Given the description of an element on the screen output the (x, y) to click on. 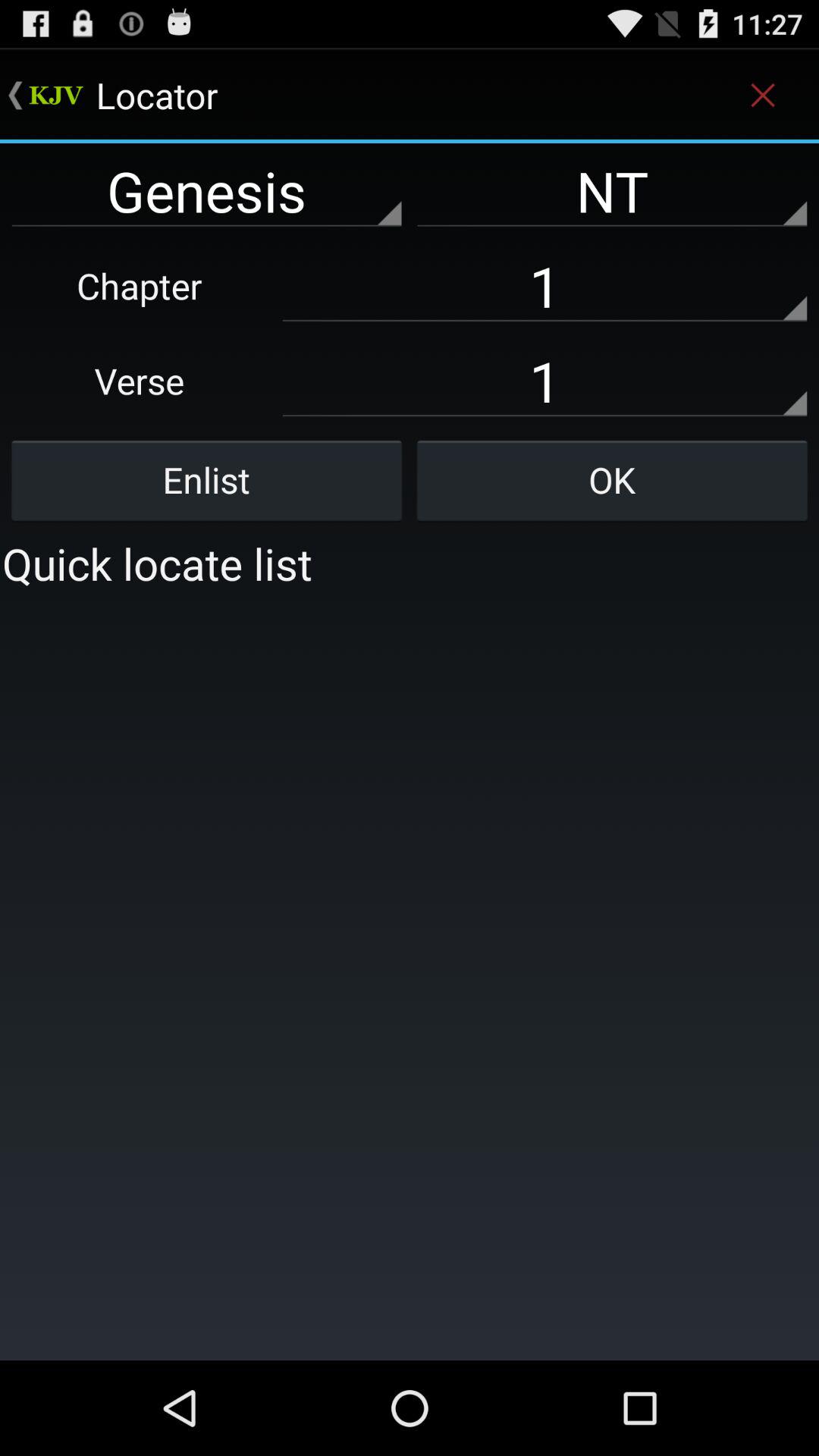
click icon above quick locate list app (206, 479)
